Given the description of an element on the screen output the (x, y) to click on. 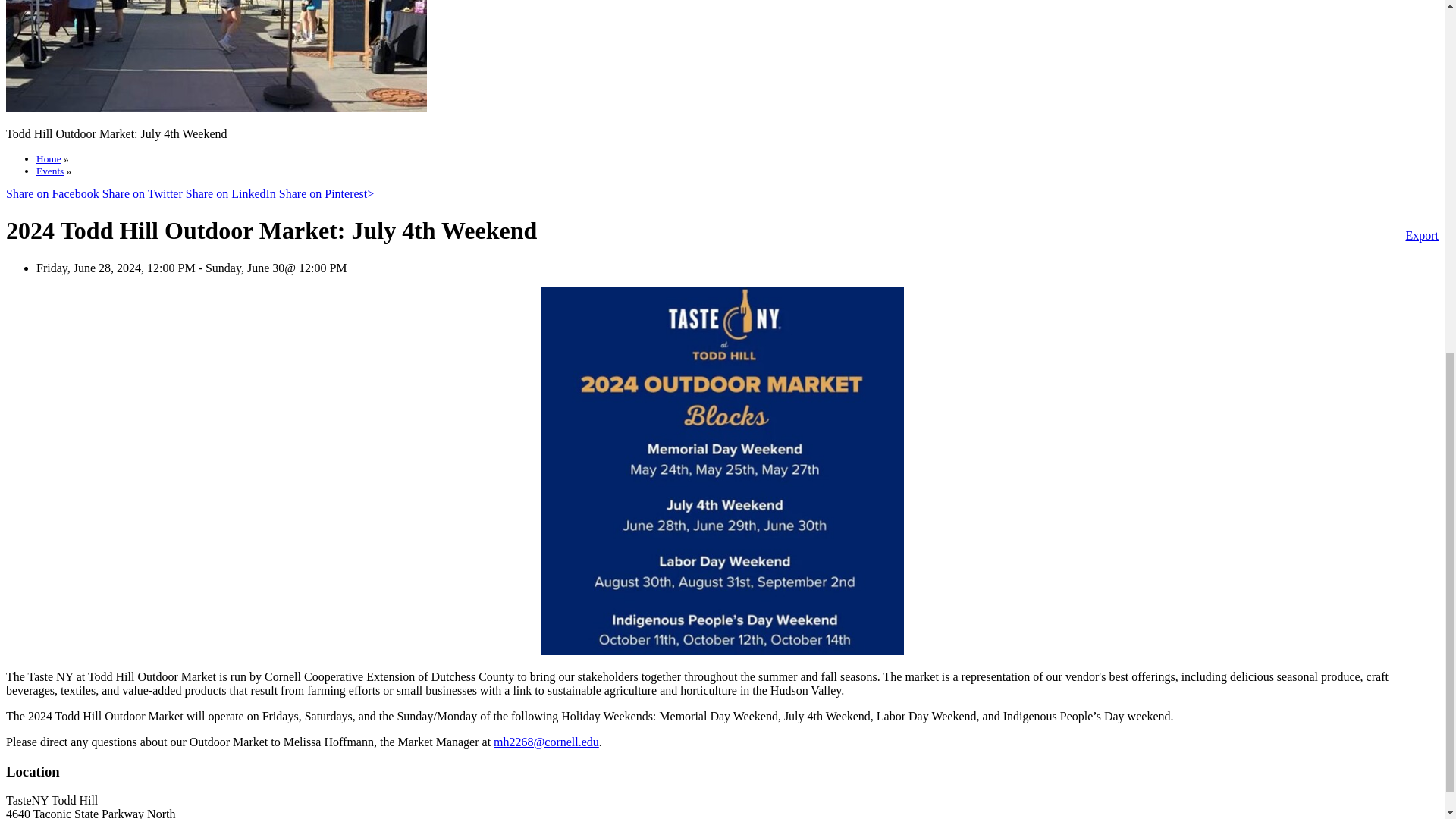
Share on Twitter (142, 193)
Home (48, 158)
Share on Twitter (142, 193)
Share on Facebook (52, 193)
Share on LinkedIn (231, 193)
Share on Pinterest (326, 193)
Events (50, 170)
Share on Facebook (52, 193)
